Given the description of an element on the screen output the (x, y) to click on. 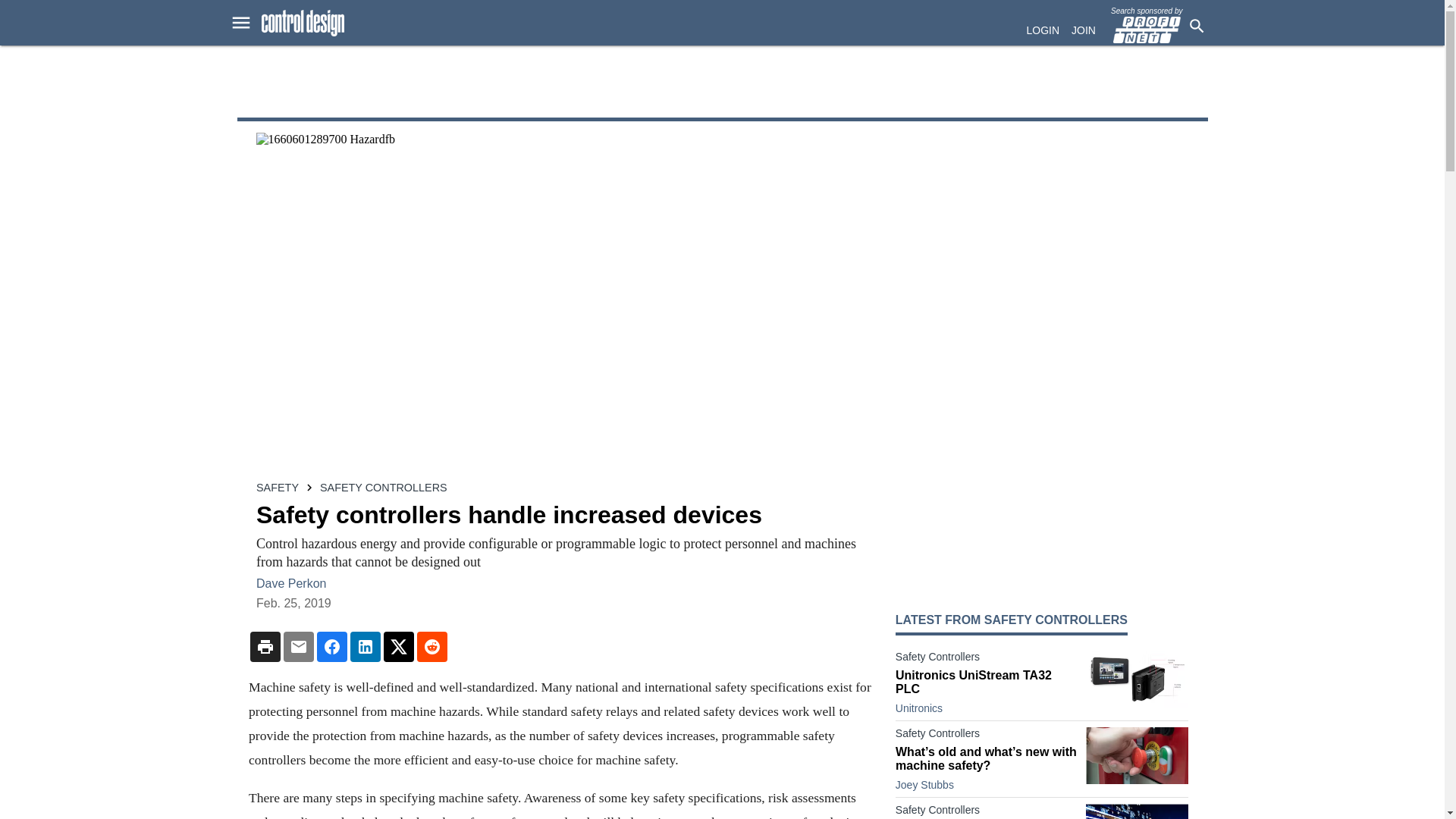
LOGIN (1042, 30)
JOIN (1083, 30)
